Given the description of an element on the screen output the (x, y) to click on. 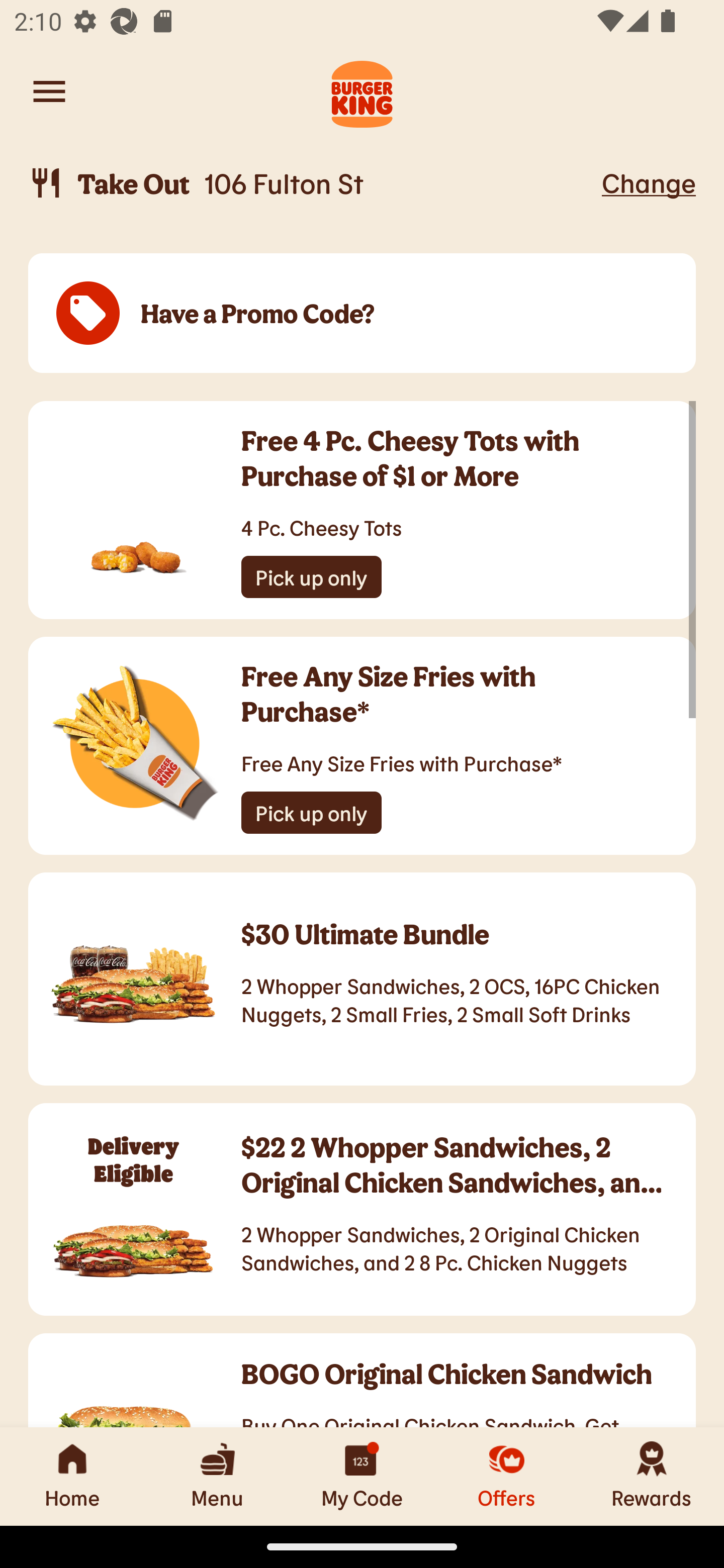
Burger King Logo. Navigate to Home (362, 91)
Navigate to account menu  (49, 91)
Take Out, 106 Fulton St  Take Out 106 Fulton St (311, 183)
Change (648, 182)
Have a Promo Code?  Have a Promo Code? (361, 313)
Home (72, 1475)
Menu (216, 1475)
My Code (361, 1475)
Offers (506, 1475)
Rewards (651, 1475)
